Given the description of an element on the screen output the (x, y) to click on. 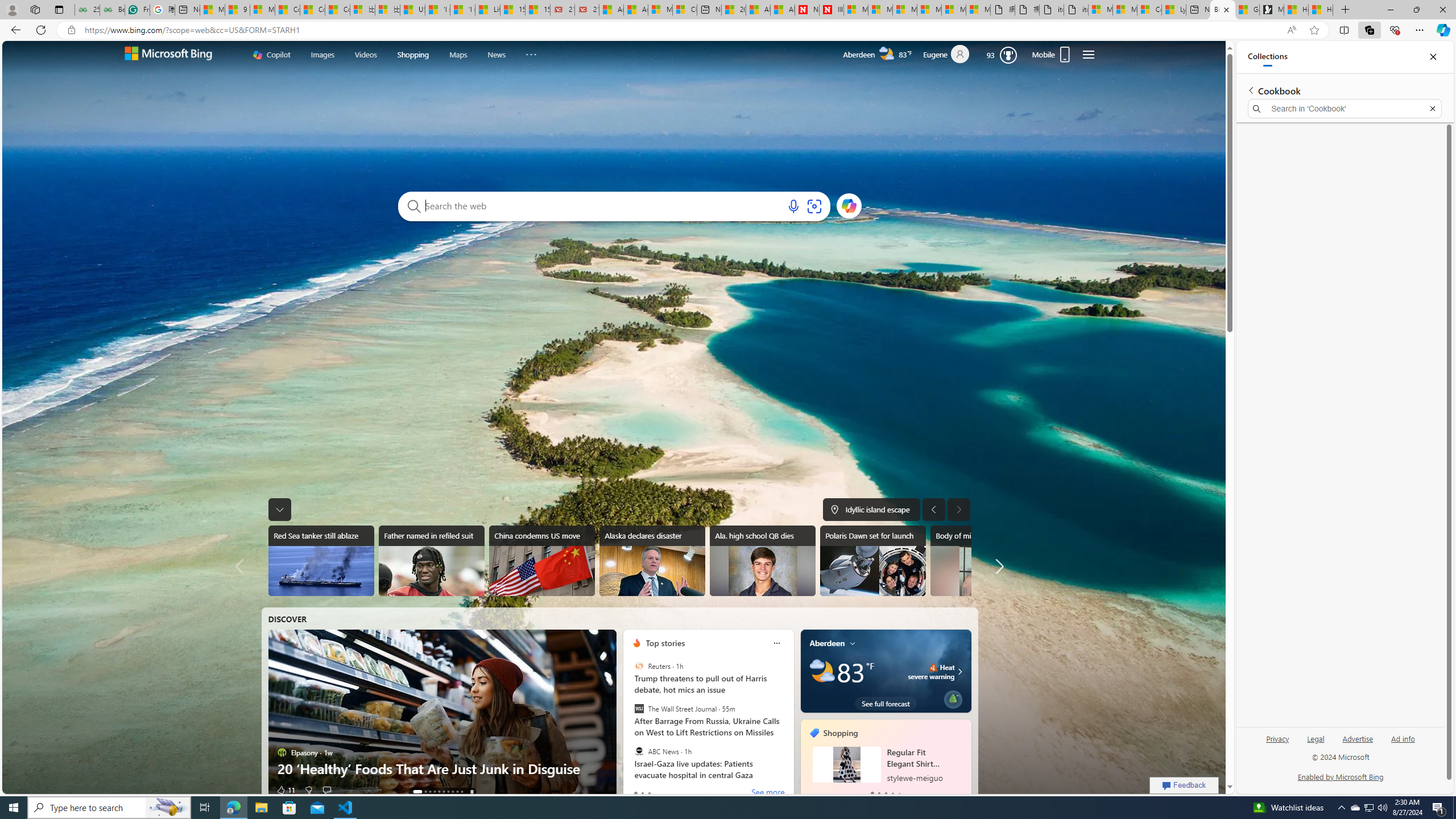
AutomationID: tab-4 (438, 791)
25 Basic Linux Commands For Beginners - GeeksforGeeks (86, 9)
AutomationID: tab-5 (443, 791)
20 Ways to Boost Your Protein Intake at Every Meal (733, 9)
Videos (365, 54)
Partly cloudy (821, 671)
Body of missing hiker found (983, 560)
next (964, 760)
Next image (957, 508)
